Given the description of an element on the screen output the (x, y) to click on. 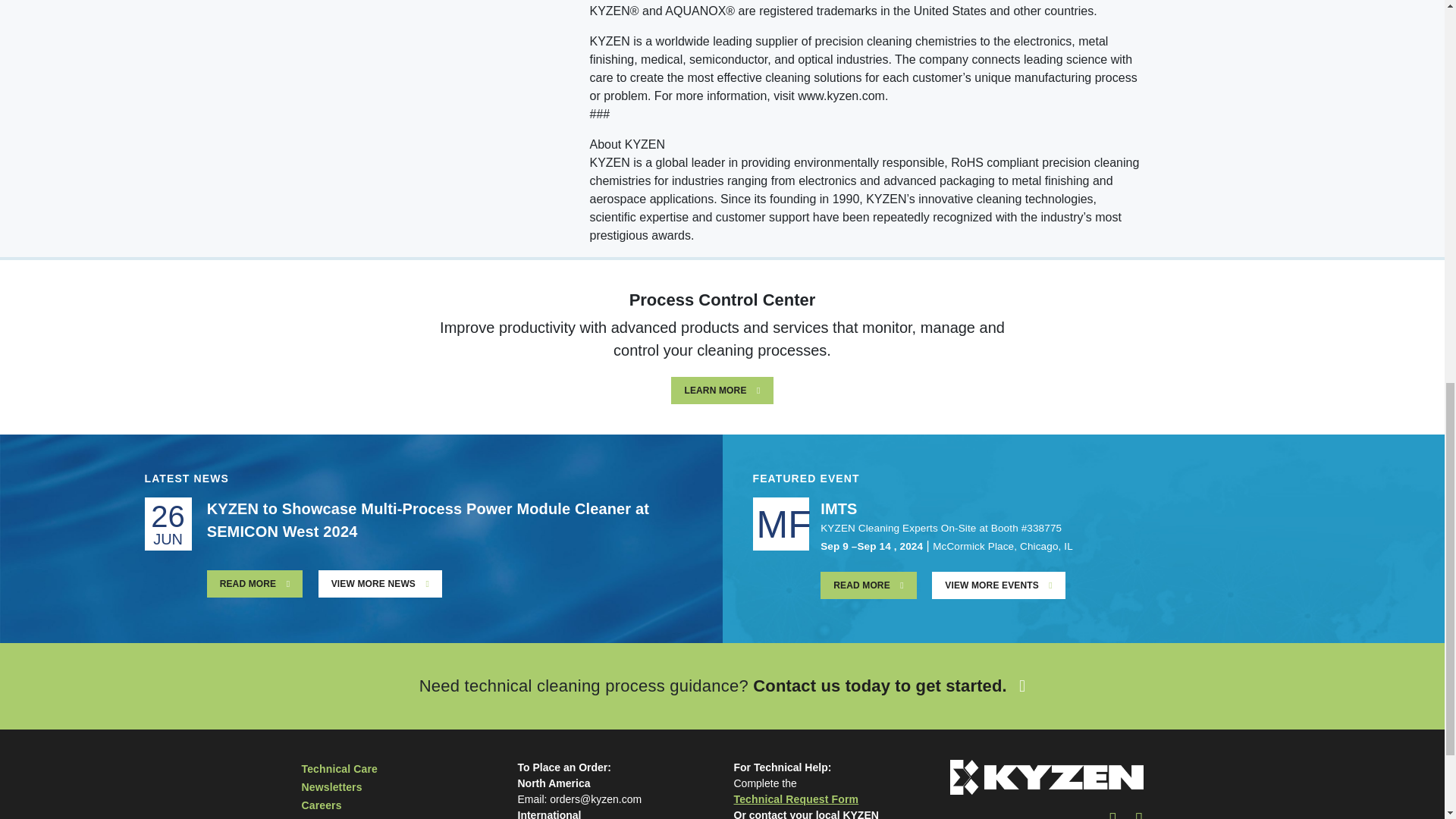
VIEW MORE NEWS (380, 583)
IMTS (839, 508)
Contact us today to get started. (888, 685)
VIEW MORE EVENTS (998, 584)
LEARN MORE (722, 390)
READ MORE (869, 584)
READ MORE (254, 583)
